Given the description of an element on the screen output the (x, y) to click on. 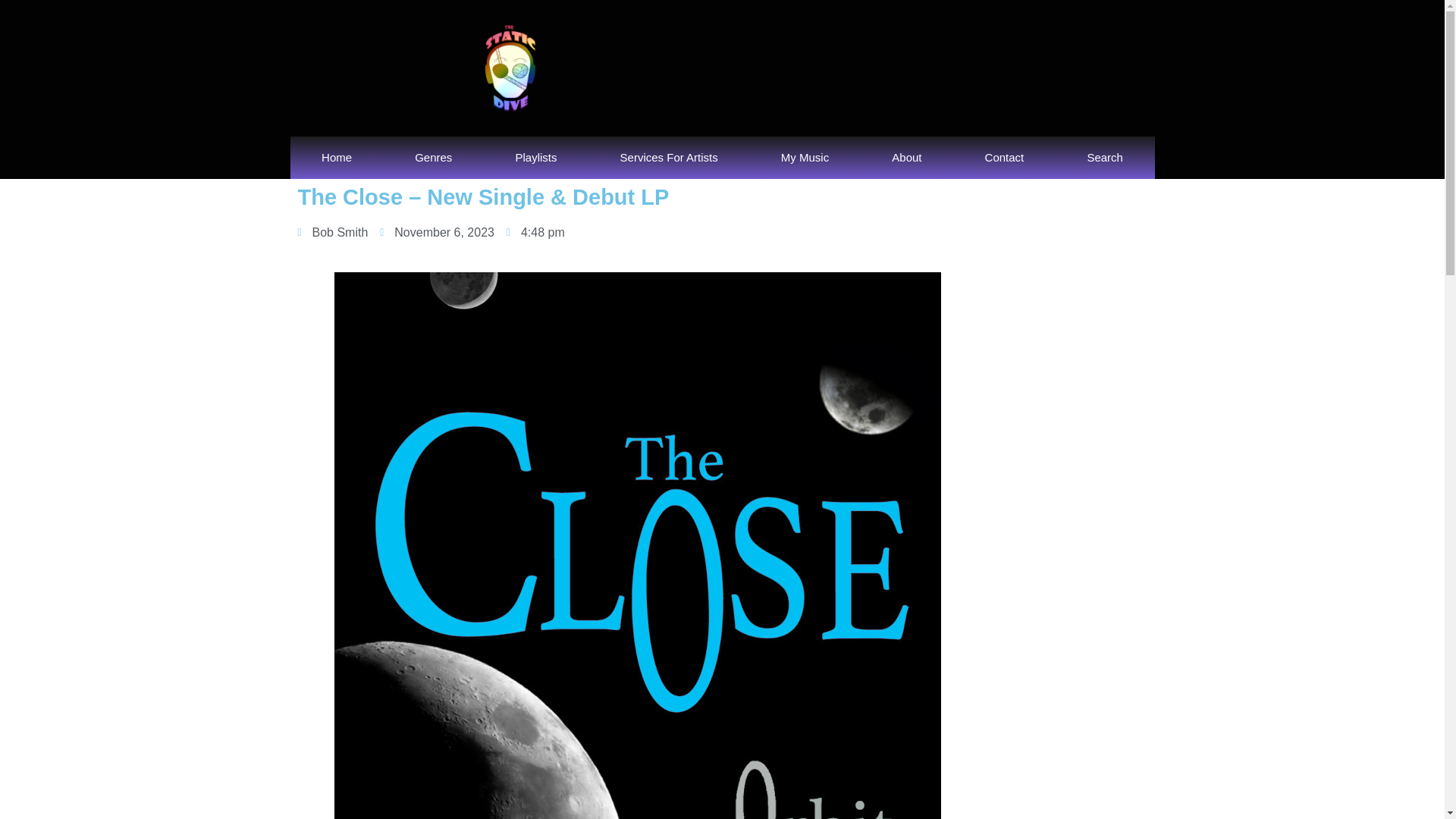
Genres (433, 157)
About (906, 157)
Contact (1004, 157)
Home (335, 157)
Search (1104, 157)
Services For Artists (668, 157)
Playlists (535, 157)
My Music (804, 157)
Bob Smith (332, 232)
November 6, 2023 (437, 232)
